Given the description of an element on the screen output the (x, y) to click on. 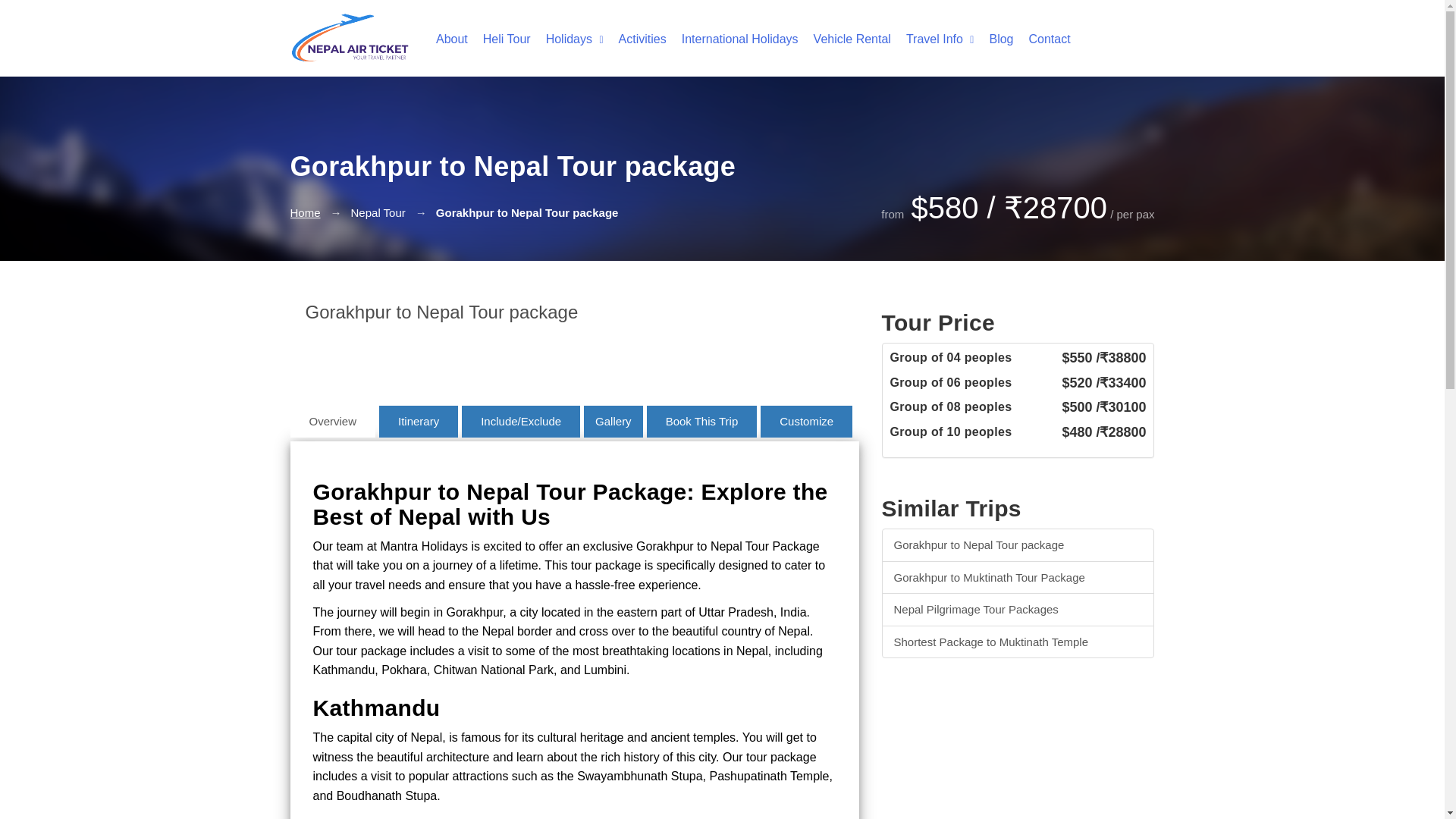
Customize (805, 420)
Contact (1041, 34)
Itinerary (418, 420)
Holidays (567, 34)
Activities (635, 34)
Heli Tour (499, 34)
International Holidays (731, 34)
Vehicle Rental (844, 34)
Blog (993, 34)
About (443, 34)
International Holidays (731, 34)
Gallery (613, 420)
Heli Tour (499, 34)
Activities (635, 34)
Nepal Air Ticket (349, 37)
